Given the description of an element on the screen output the (x, y) to click on. 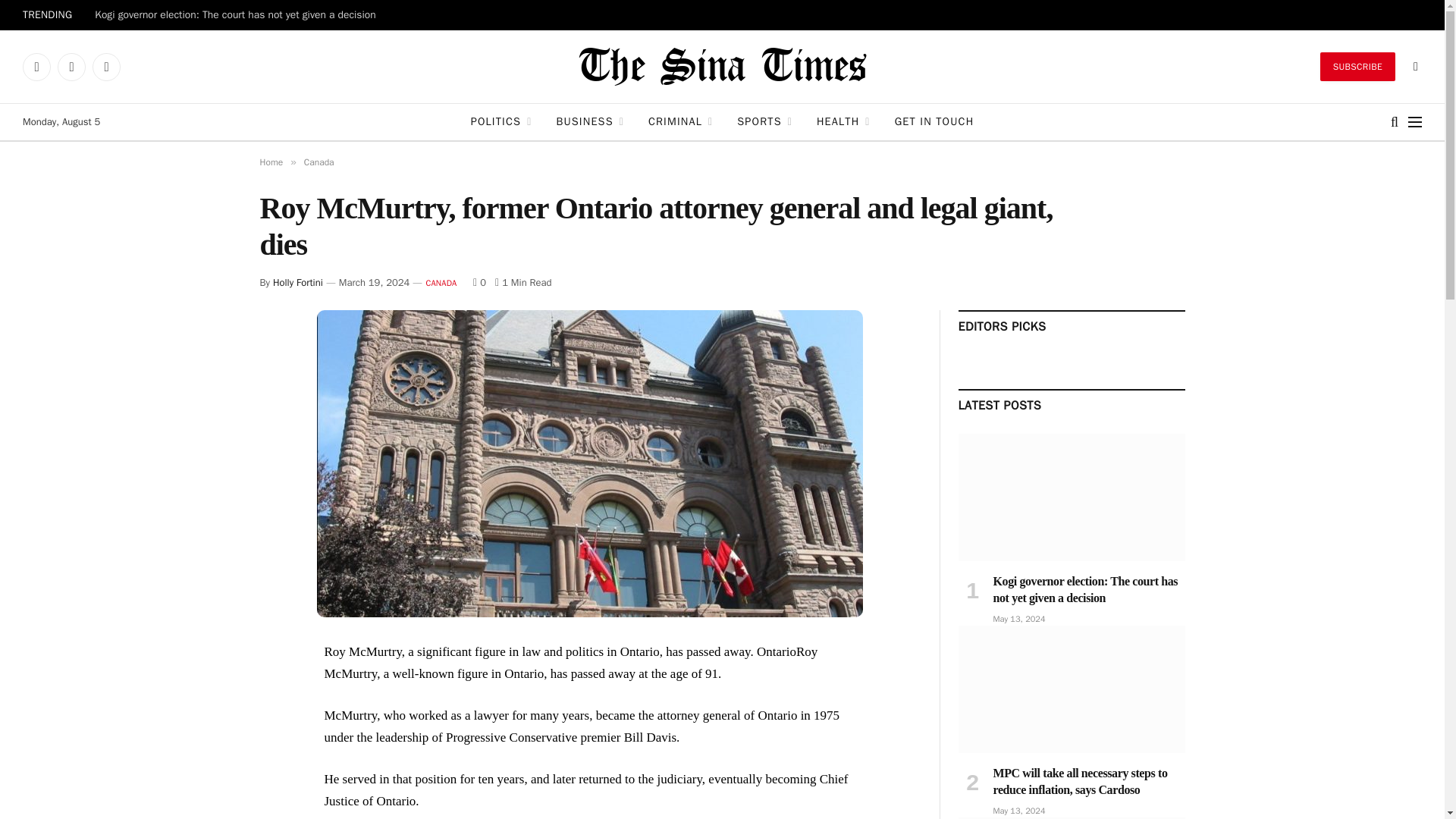
Telegram (71, 67)
POLITICS (501, 122)
BUSINESS (589, 122)
RSS (106, 67)
The Sina Times (722, 66)
Switch to Dark Design - easier on eyes. (1414, 66)
SUBSCRIBE (1357, 66)
